Given the description of an element on the screen output the (x, y) to click on. 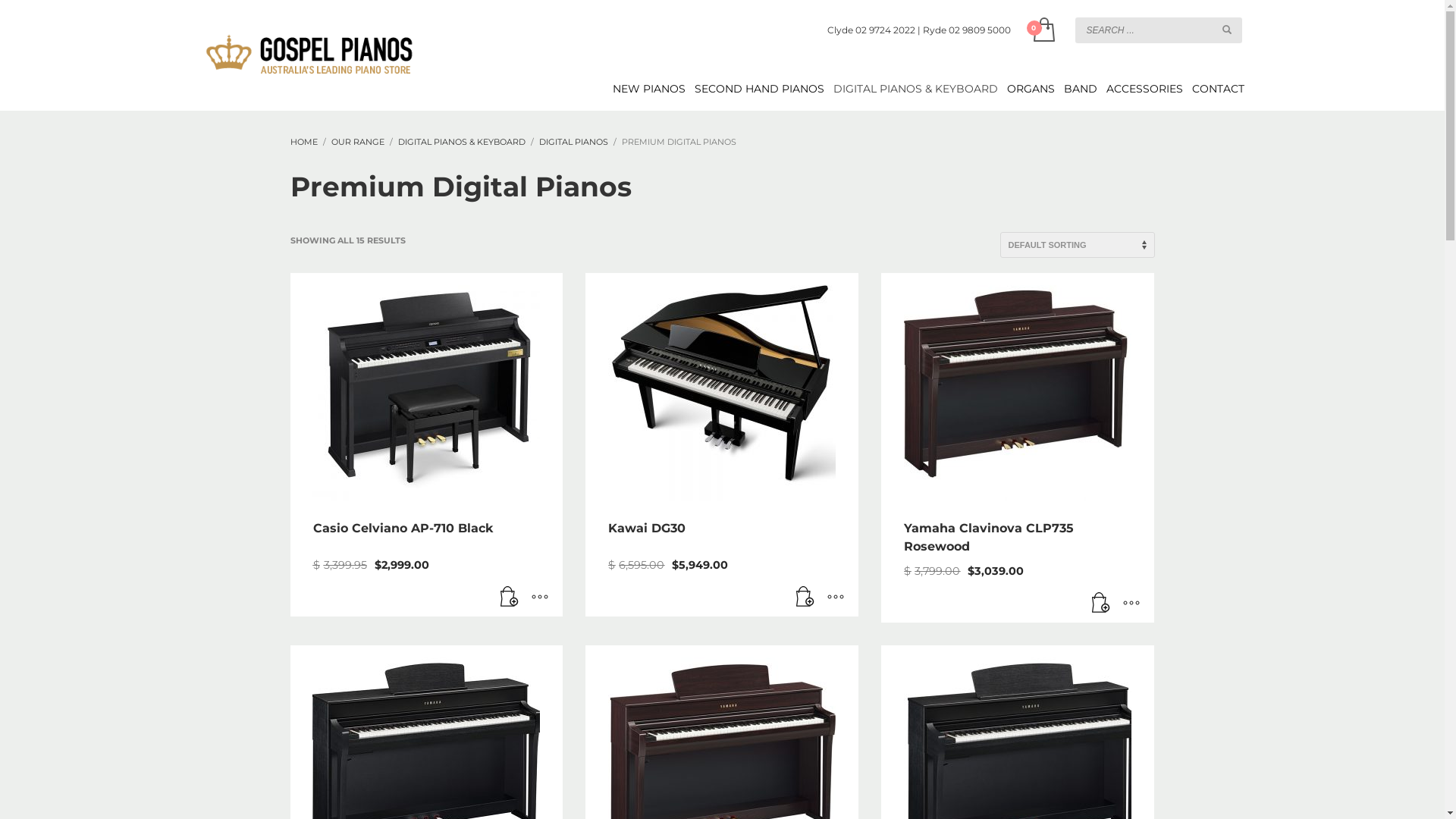
MORE INFO Element type: hover (835, 597)
DIGITAL PIANOS & KEYBOARD Element type: text (908, 88)
ORGANS Element type: text (1022, 88)
NEW PIANOS Element type: text (641, 88)
MORE INFO Element type: hover (539, 597)
SECOND HAND PIANOS Element type: text (751, 88)
ACCESSORIES Element type: text (1137, 88)
OUR RANGE Element type: text (356, 141)
Yamaha Clavinova CLP735 Rosewood
$3,799.00 $3,039.00 Element type: text (1017, 447)
go Element type: text (1226, 29)
DIGITAL PIANOS Element type: text (572, 141)
Kawai DG30
$6,595.00 $5,949.00 Element type: text (721, 444)
AP-710BK_1 Element type: hover (425, 386)
Ryde 02 9809 5000 Element type: text (966, 29)
Australia's Leading Piano Store Element type: hover (309, 54)
CONTACT Element type: text (1210, 88)
Casio Celviano AP-710 Black
$3,399.95 $2,999.00 Element type: text (425, 444)
HOME Element type: text (302, 141)
BAND Element type: text (1073, 88)
DIGITAL PIANOS & KEYBOARD Element type: text (460, 141)
View your shopping cart Element type: hover (1042, 29)
DG30_angle4 Element type: hover (721, 386)
Clyde 02 9724 2022 Element type: text (870, 29)
MORE INFO Element type: hover (1131, 603)
